Given the description of an element on the screen output the (x, y) to click on. 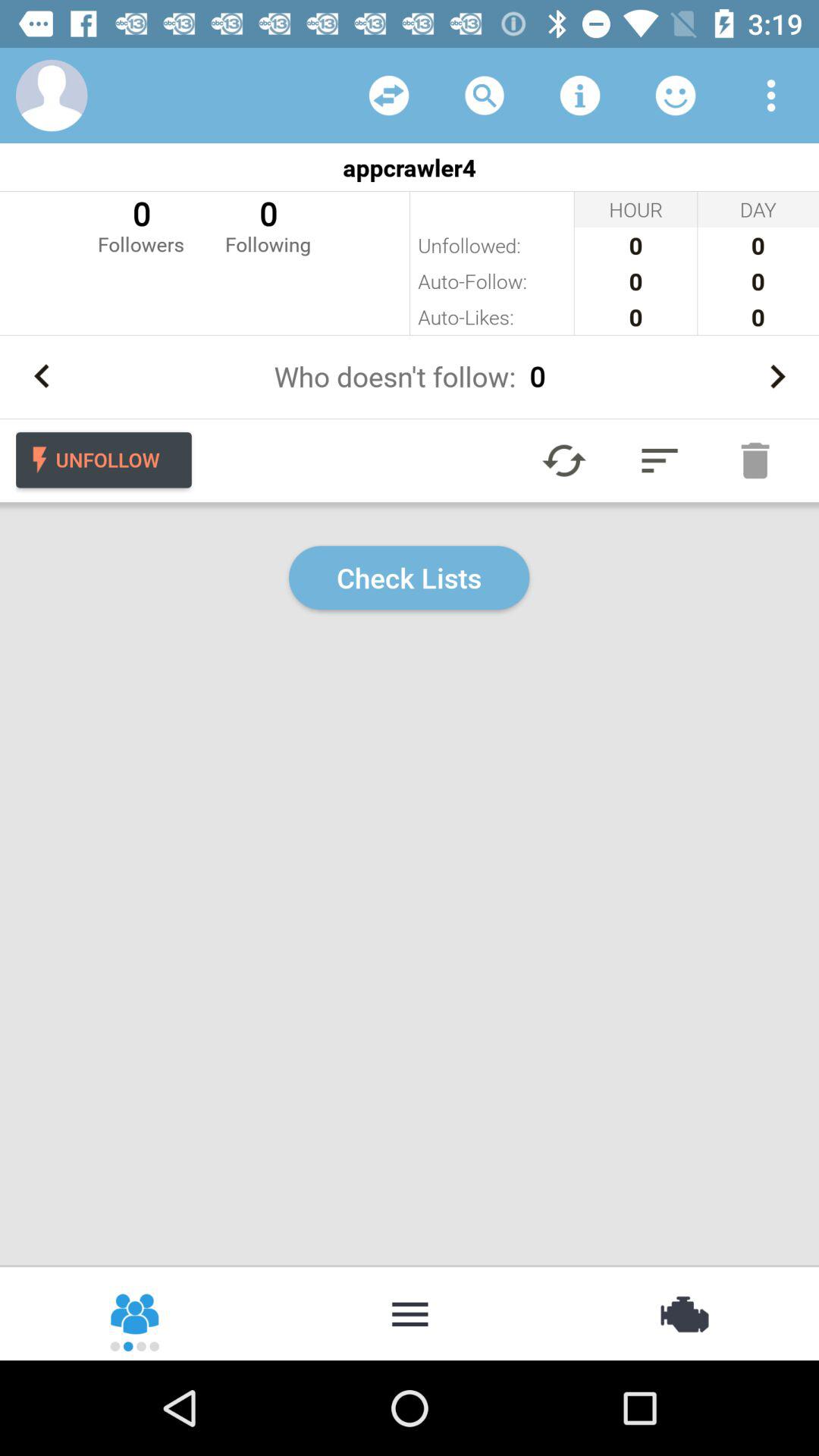
enlarge screen (659, 460)
